Given the description of an element on the screen output the (x, y) to click on. 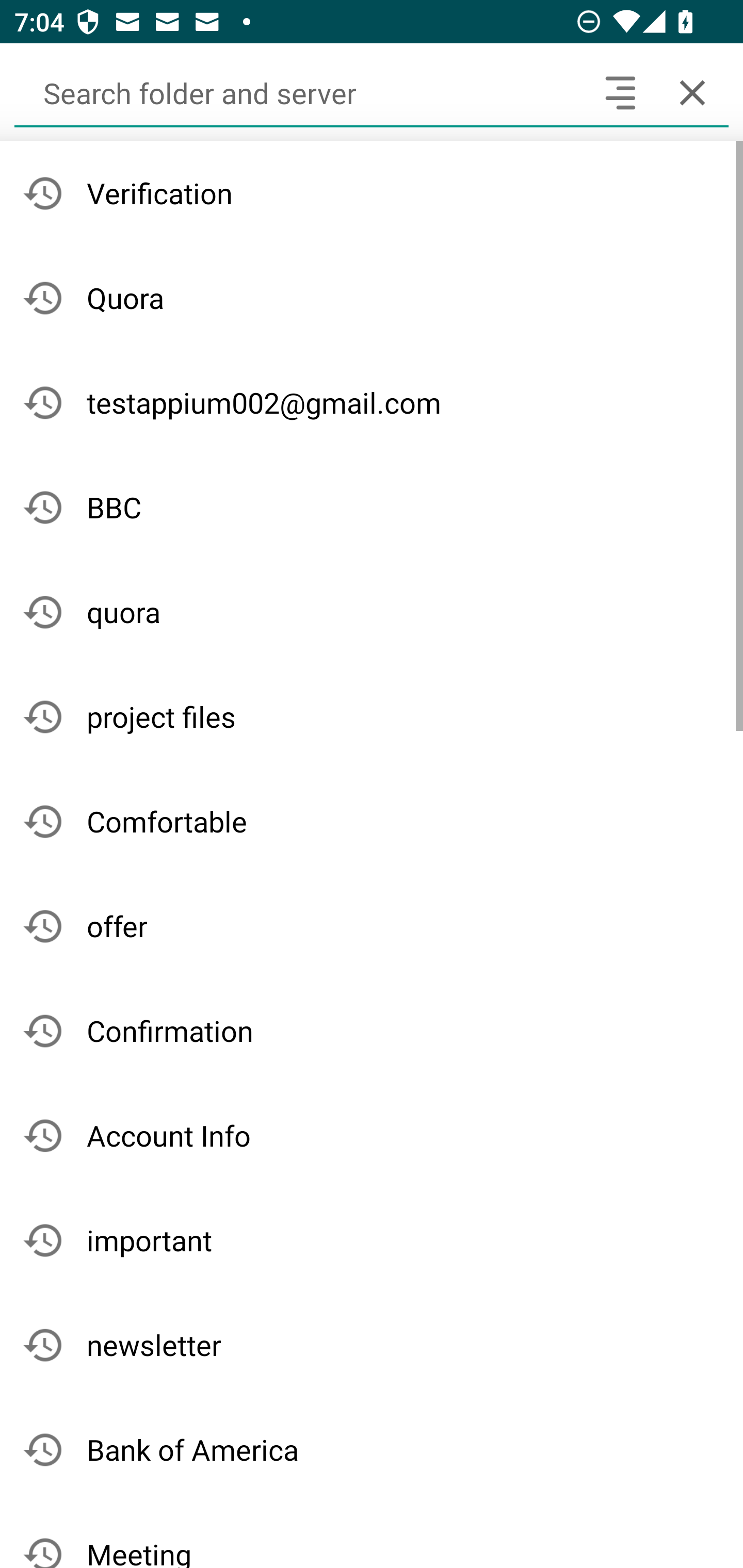
   Search folder and server (298, 92)
Search headers and text (619, 92)
Cancel (692, 92)
